Given the description of an element on the screen output the (x, y) to click on. 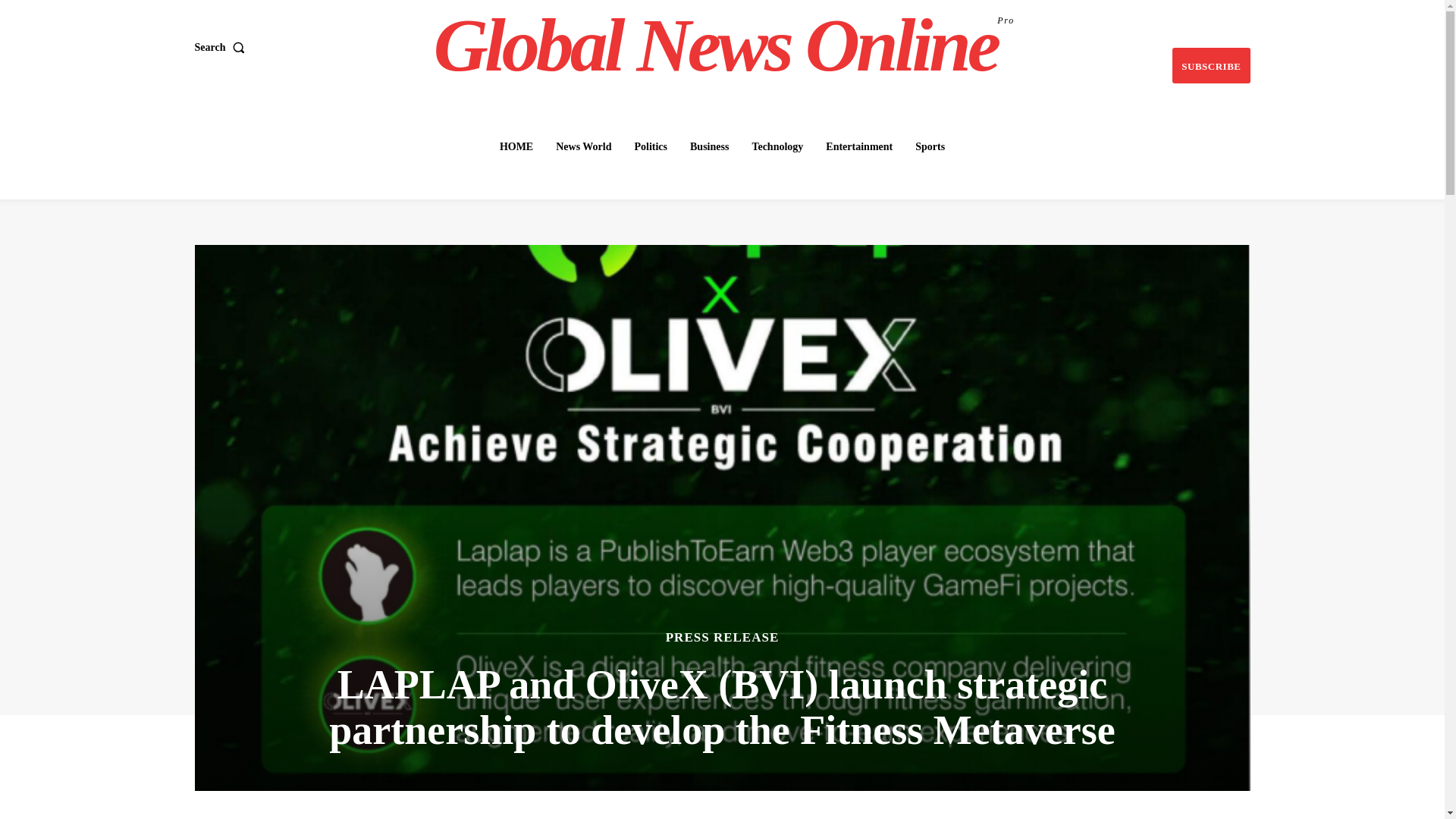
News World (583, 146)
Search (221, 47)
SUBSCRIBE (1210, 65)
PRESS RELEASE (721, 636)
Technology (777, 146)
Business (709, 146)
Subscribe (1210, 65)
Sports (929, 146)
Entertainment (858, 146)
HOME (516, 146)
Politics (650, 146)
